Given the description of an element on the screen output the (x, y) to click on. 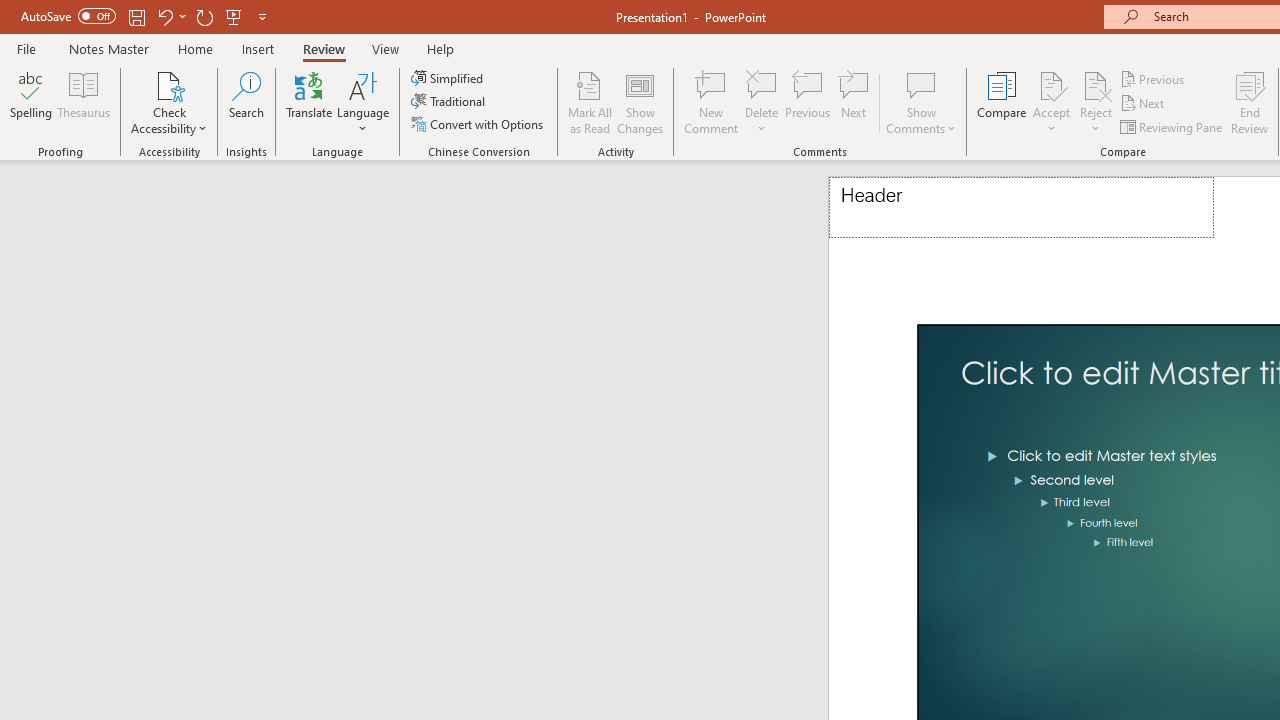
Convert with Options... (479, 124)
Mark All as Read (589, 102)
Translate (309, 102)
Compare (1002, 102)
Simplified (449, 78)
